Given the description of an element on the screen output the (x, y) to click on. 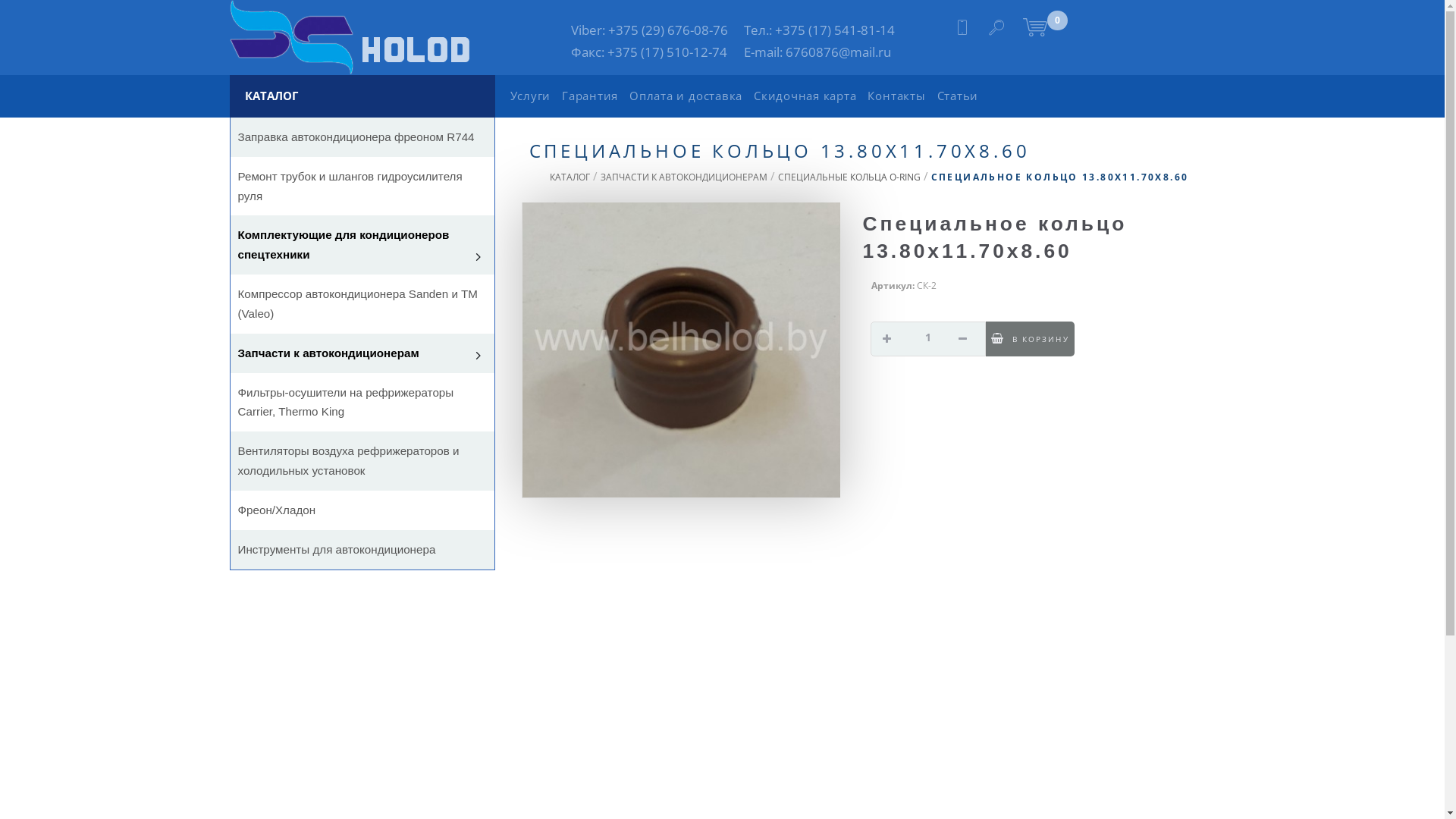
+375 (17) 541-81-14 Element type: text (834, 29)
+375 (17) 510-12-74 Element type: text (667, 51)
+375 (29) 676-08-76 Element type: text (668, 29)
6760876@mail.ru Element type: text (838, 51)
